Given the description of an element on the screen output the (x, y) to click on. 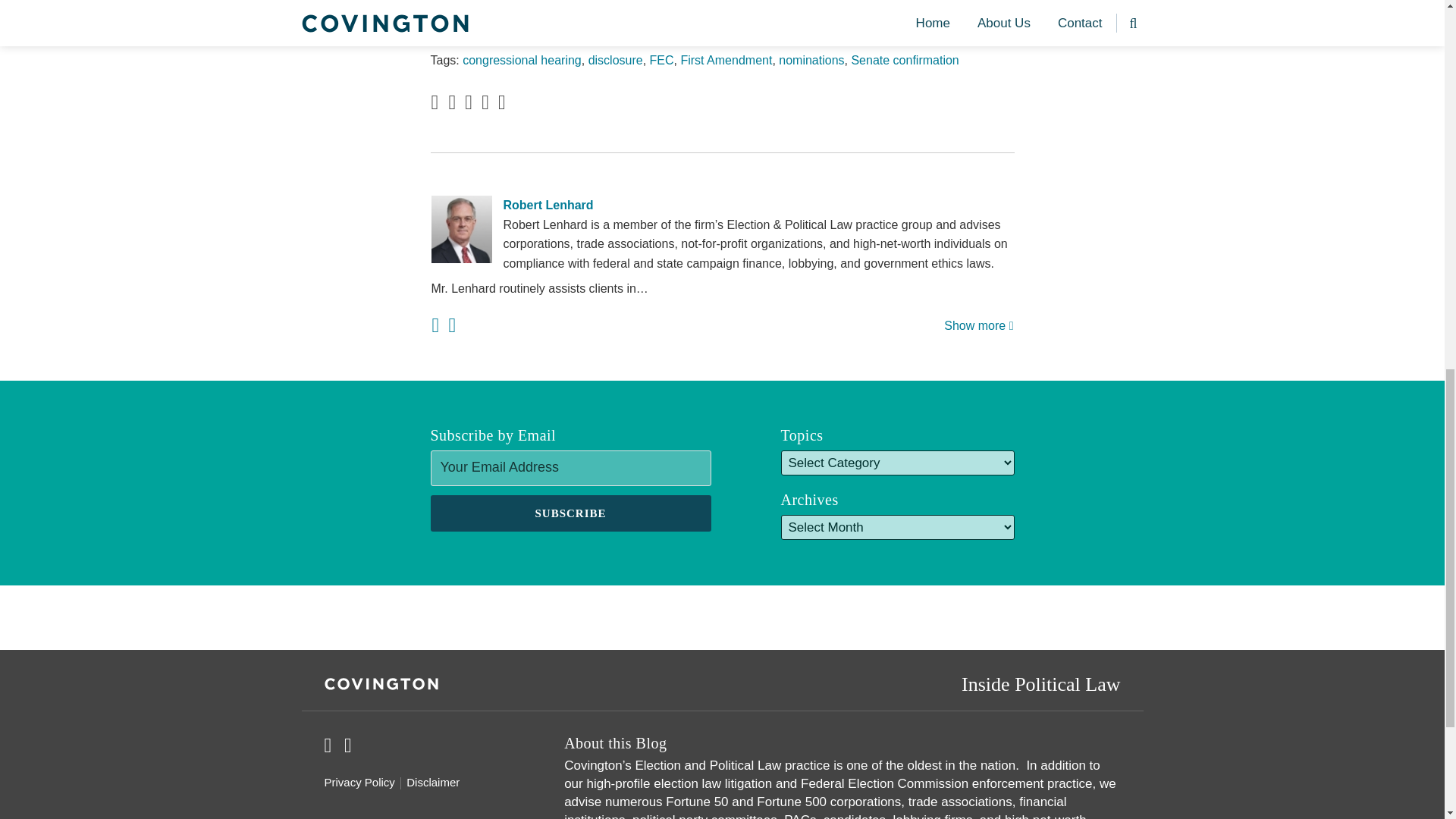
Disclaimer (433, 782)
Inside Political Law (1039, 683)
congressional hearing (521, 60)
Subscribe (570, 513)
Privacy Policy (359, 782)
Senate confirmation (904, 60)
disclosure (615, 60)
Show more (978, 325)
First Amendment (725, 60)
FEC (661, 60)
nominations (811, 60)
Robert Lenhard (721, 205)
Subscribe (570, 513)
